Given the description of an element on the screen output the (x, y) to click on. 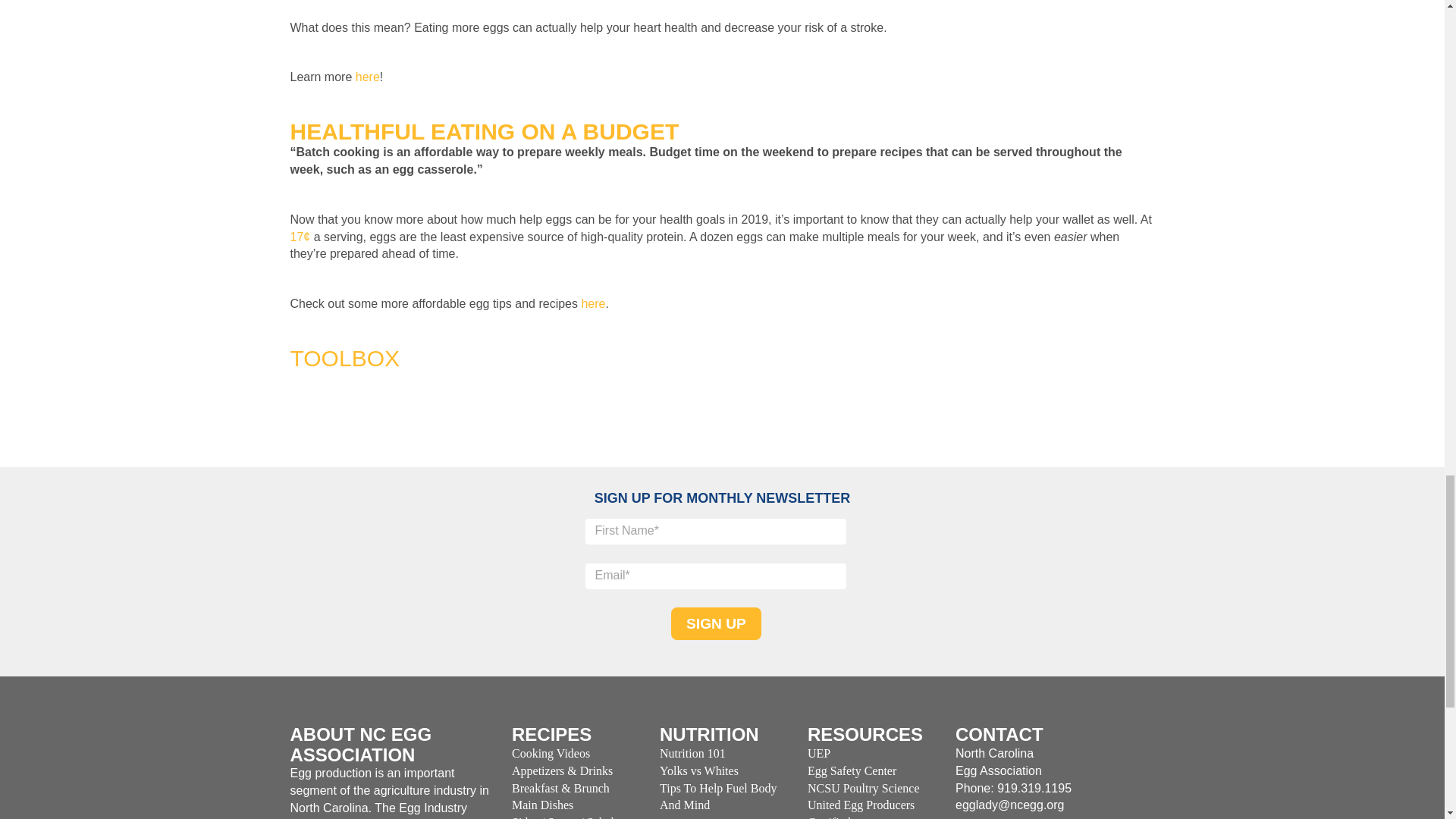
Sign Up (716, 623)
